Given the description of an element on the screen output the (x, y) to click on. 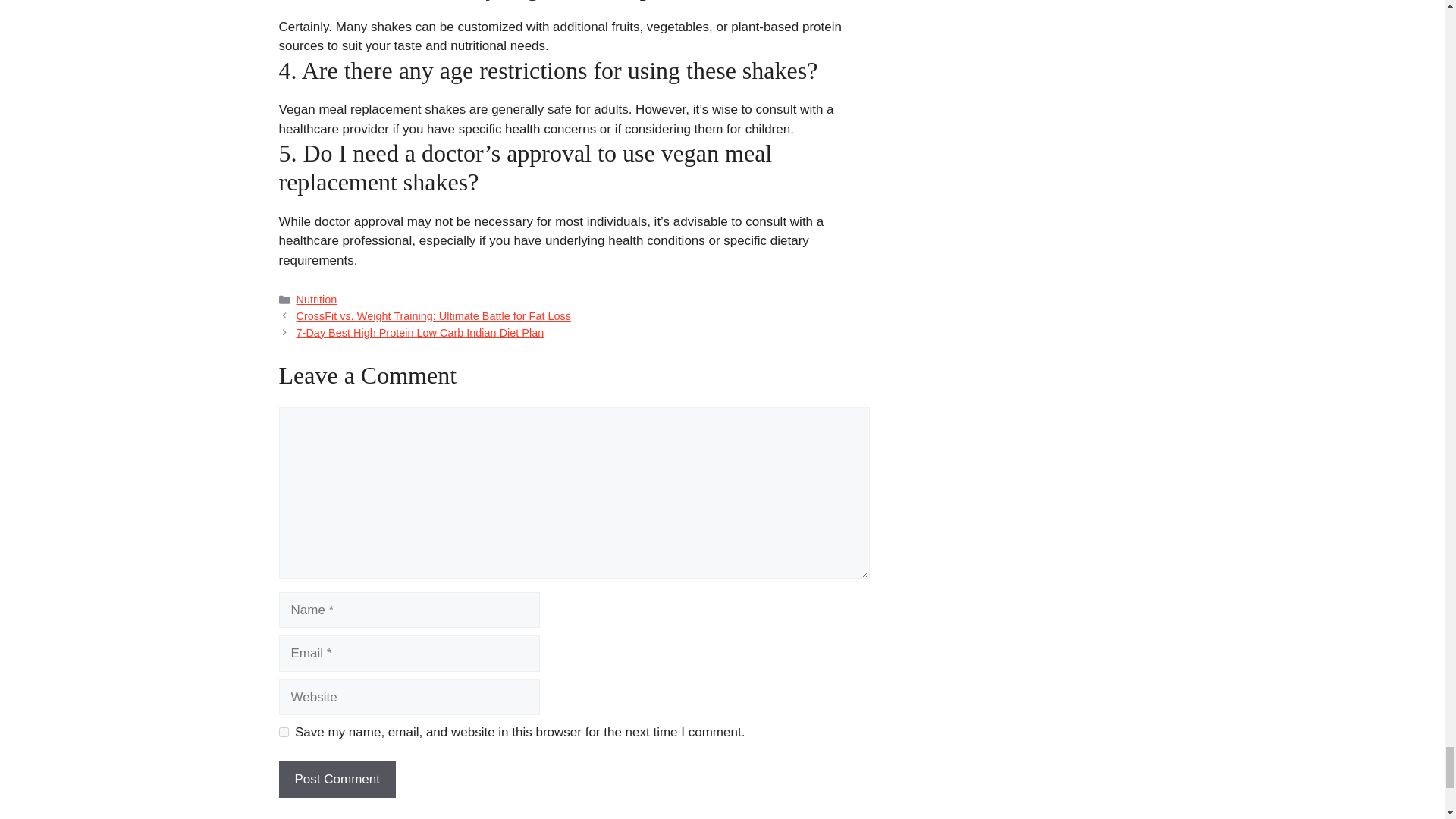
Post Comment (337, 779)
yes (283, 732)
